Given the description of an element on the screen output the (x, y) to click on. 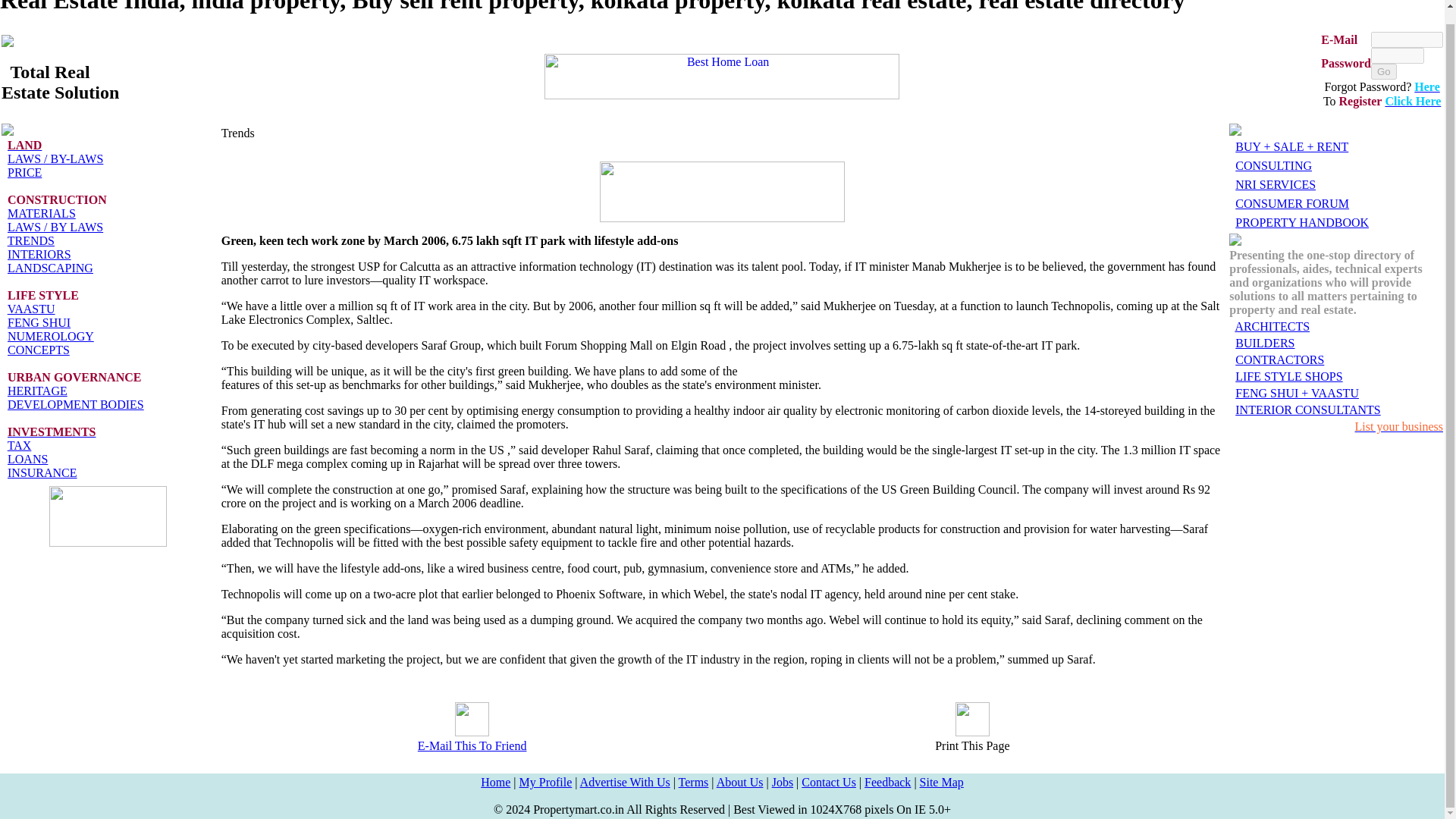
LANDSCAPING (50, 267)
INSURANCE (42, 472)
PROPERTY HANDBOOK (1301, 222)
Here (1426, 86)
CONSULTING (1272, 164)
E-Mail This To Friend (472, 745)
PRICE (24, 172)
INTERIOR CONSULTANTS (1307, 409)
HERITAGE (36, 390)
Print This Page (971, 745)
